Given the description of an element on the screen output the (x, y) to click on. 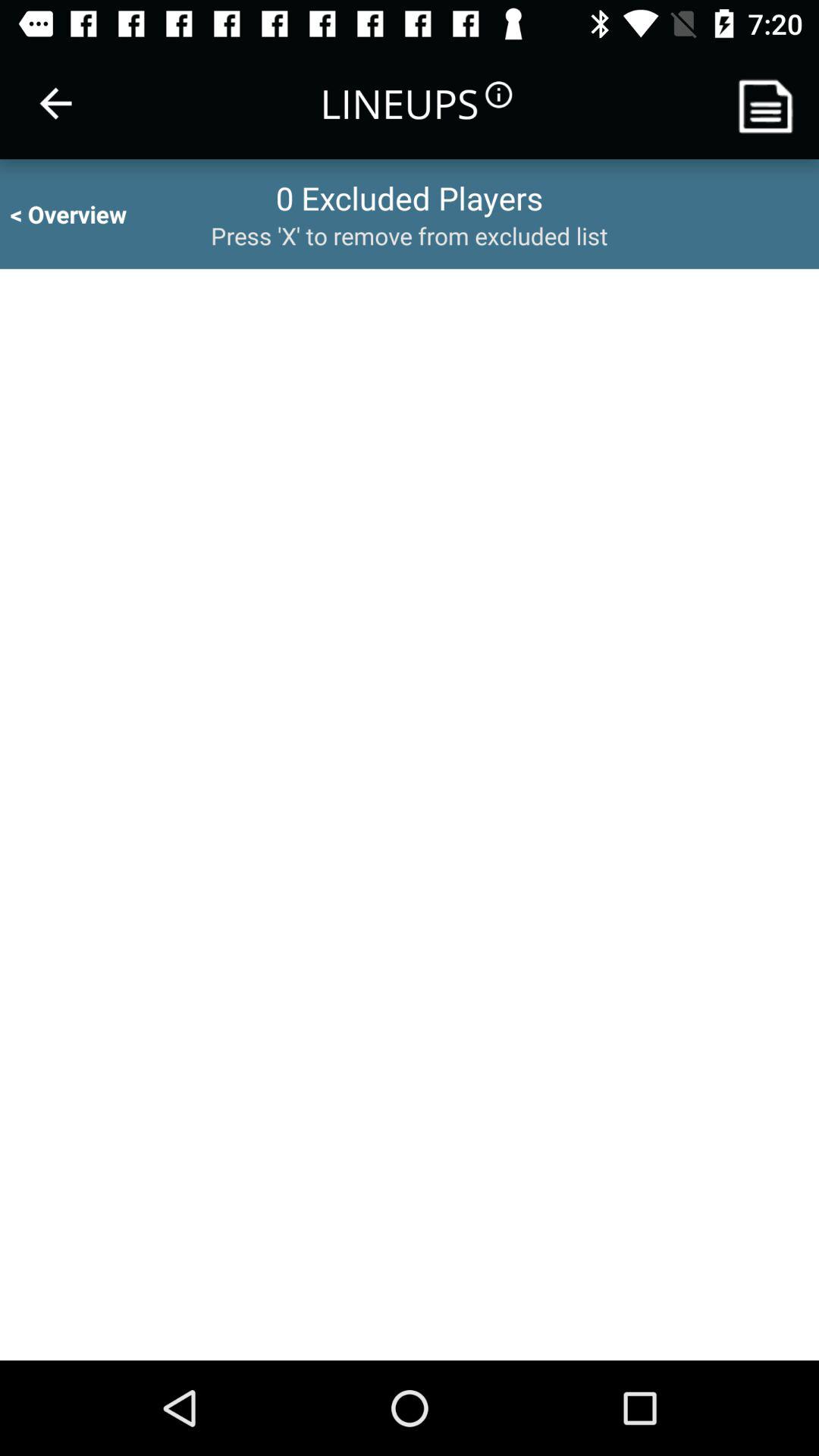
open < overview icon (81, 214)
